Given the description of an element on the screen output the (x, y) to click on. 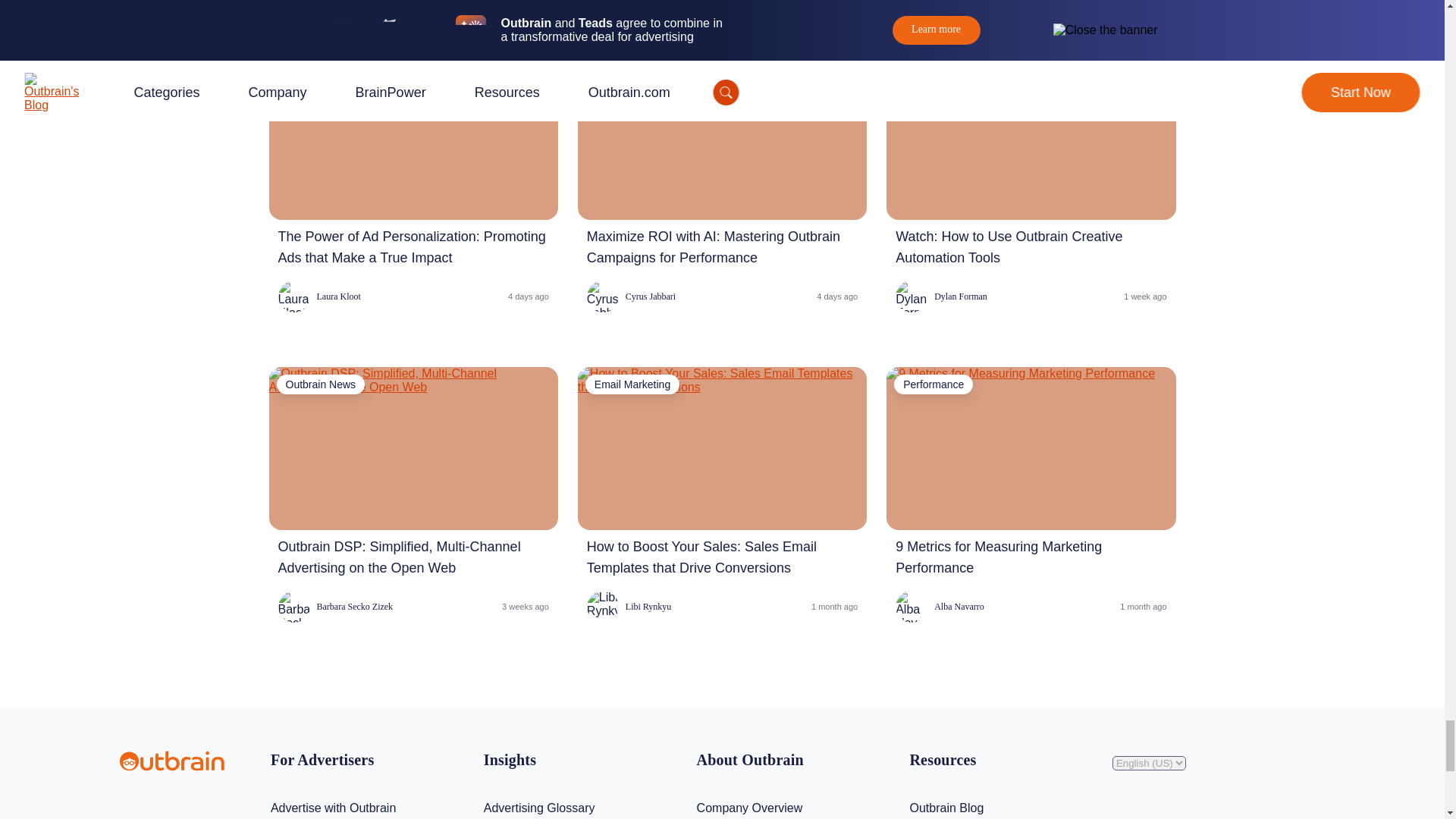
Barbara Secko Zizek (335, 606)
Laura Kloot (318, 296)
Cyrus Jabbari (630, 296)
Alba Navarro (939, 606)
David Kostman (326, 1)
Libi Rynkyu (628, 606)
Dylan Forman (941, 296)
